Given the description of an element on the screen output the (x, y) to click on. 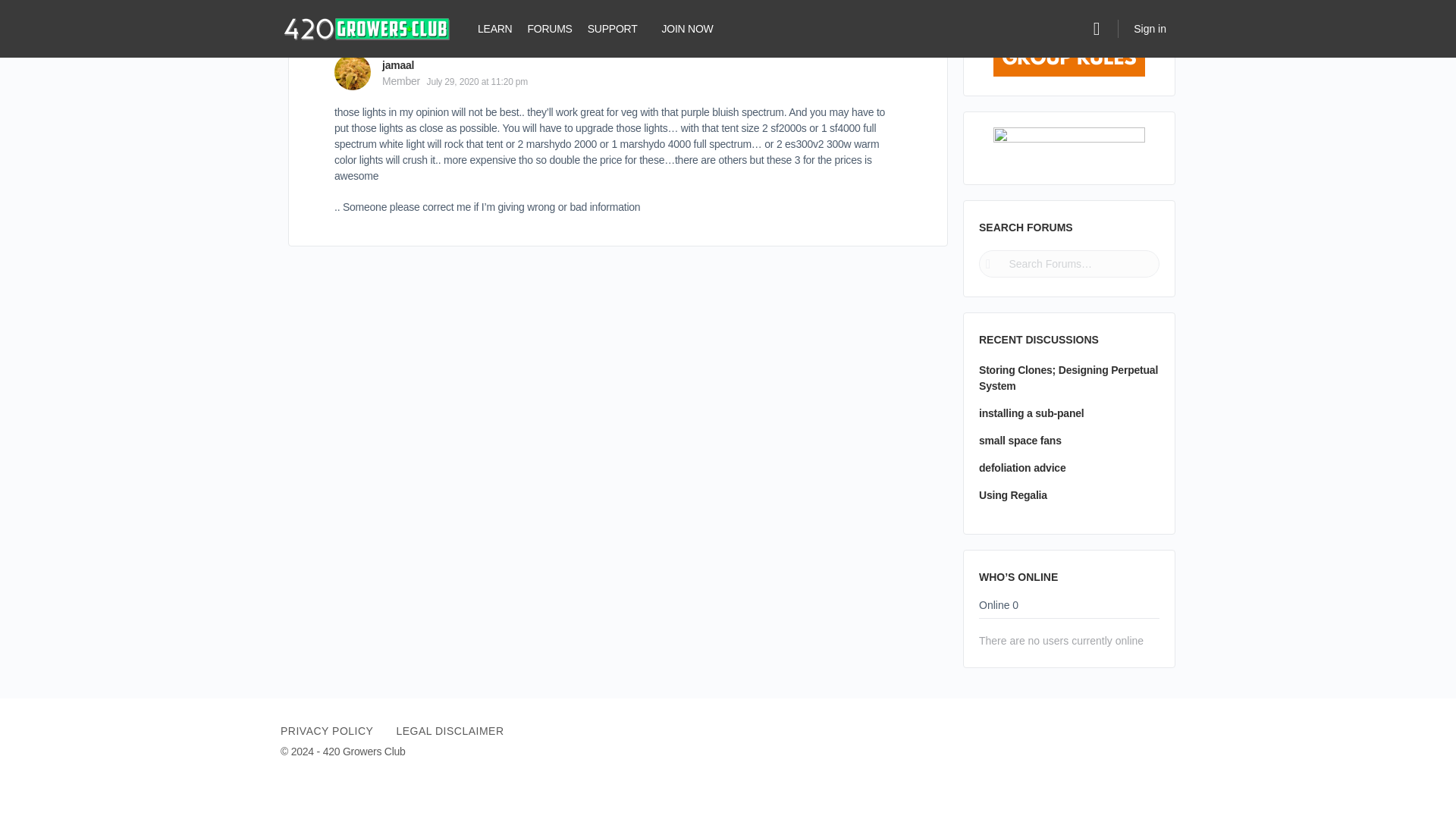
jamaal (397, 64)
JOIN NOW (687, 28)
View jamaal's profile (397, 64)
Sign in (1149, 28)
small space fans (1019, 440)
Storing Clones; Designing Perpetual System (1067, 377)
View jamaal's profile (352, 72)
Online 0 (997, 608)
installing a sub-panel (1031, 413)
Using Regalia (1012, 494)
defoliation advice (1021, 467)
